Given the description of an element on the screen output the (x, y) to click on. 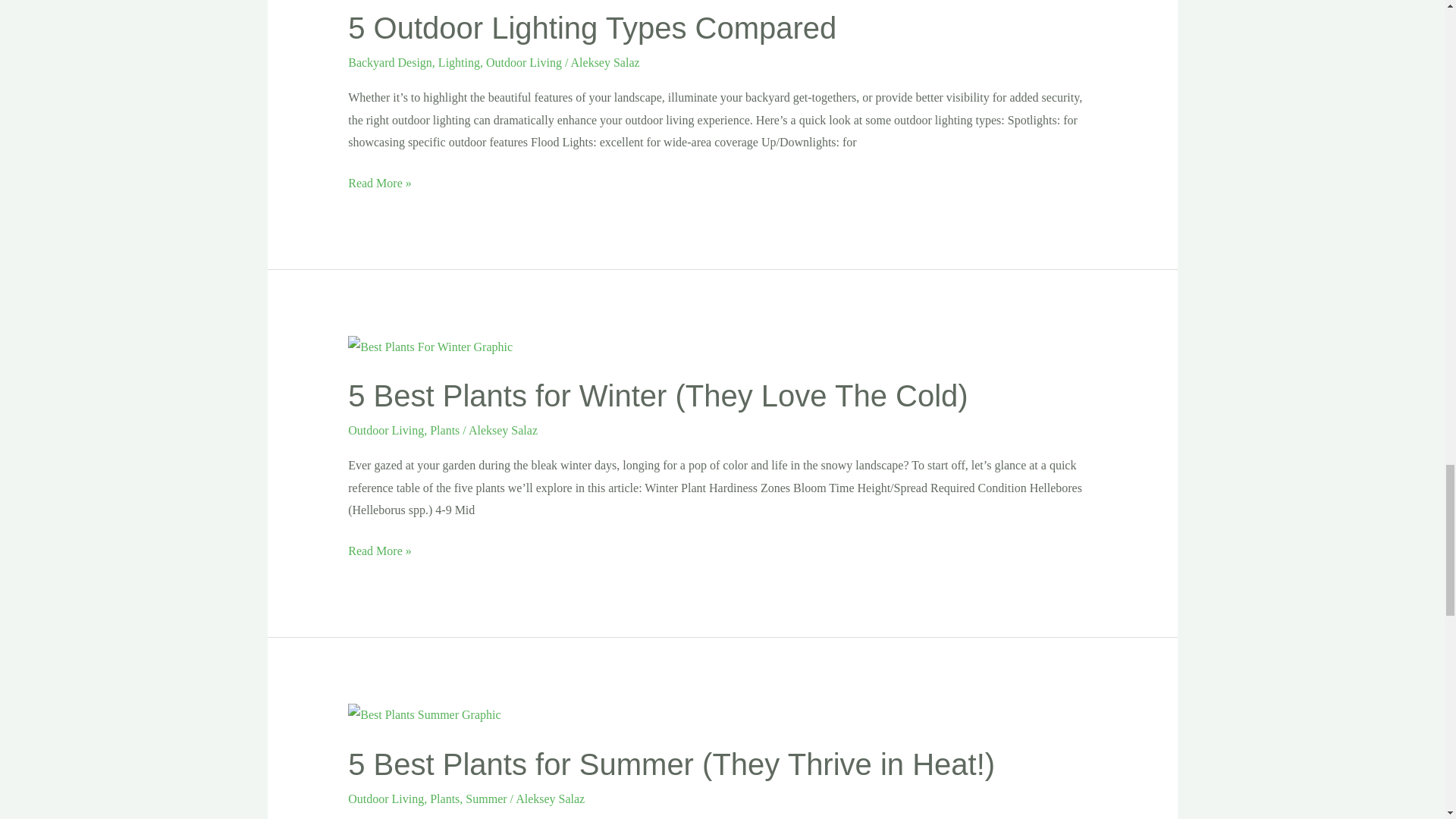
View all posts by Aleksey Salaz (605, 62)
View all posts by Aleksey Salaz (550, 797)
View all posts by Aleksey Salaz (502, 430)
